Given the description of an element on the screen output the (x, y) to click on. 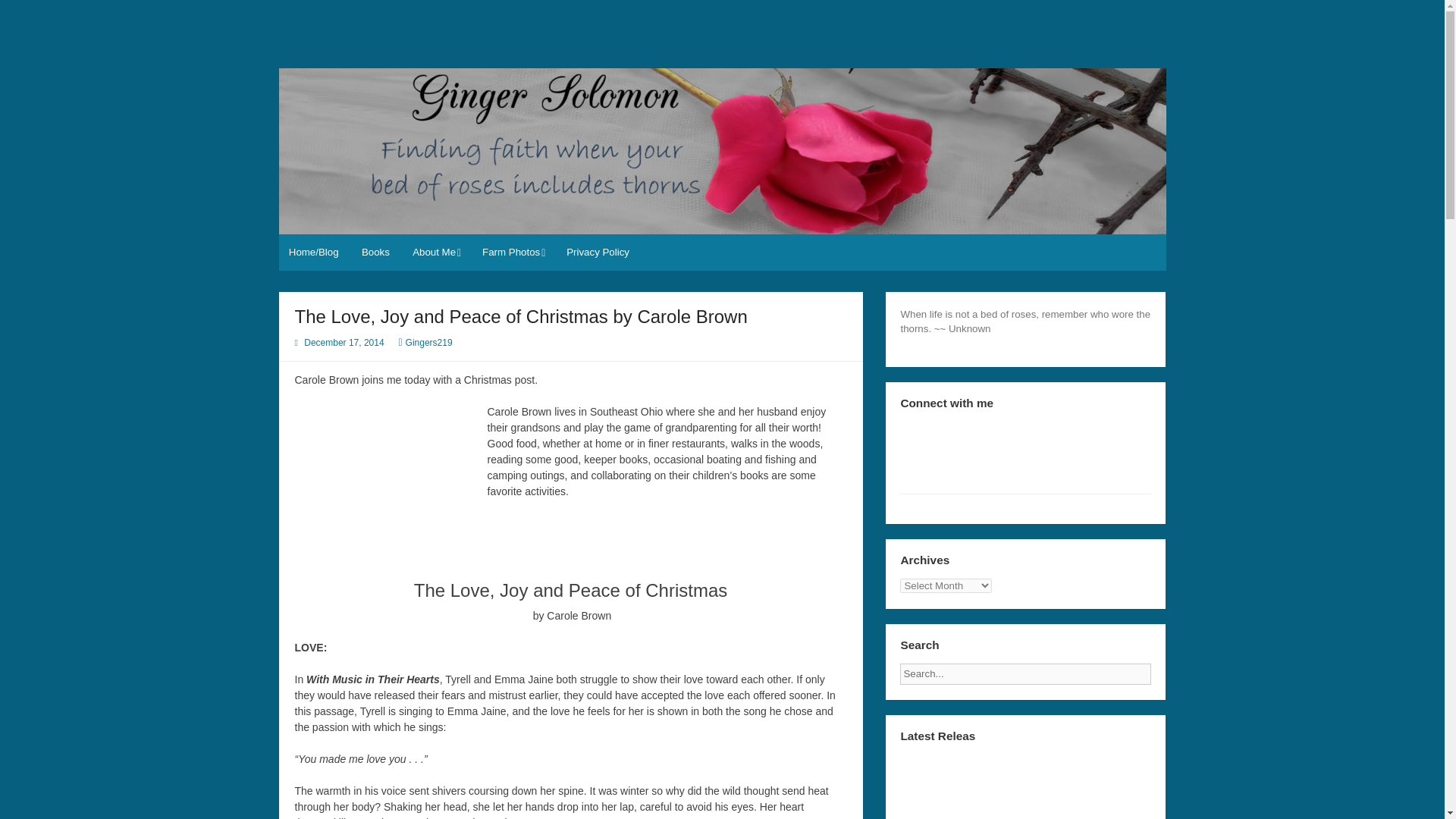
Books (376, 252)
Search (1163, 669)
Search (1163, 669)
December 17, 2014 (344, 342)
Gingers219 (429, 342)
About Me (435, 252)
Farm Photos (512, 252)
Privacy Policy (597, 252)
